Given the description of an element on the screen output the (x, y) to click on. 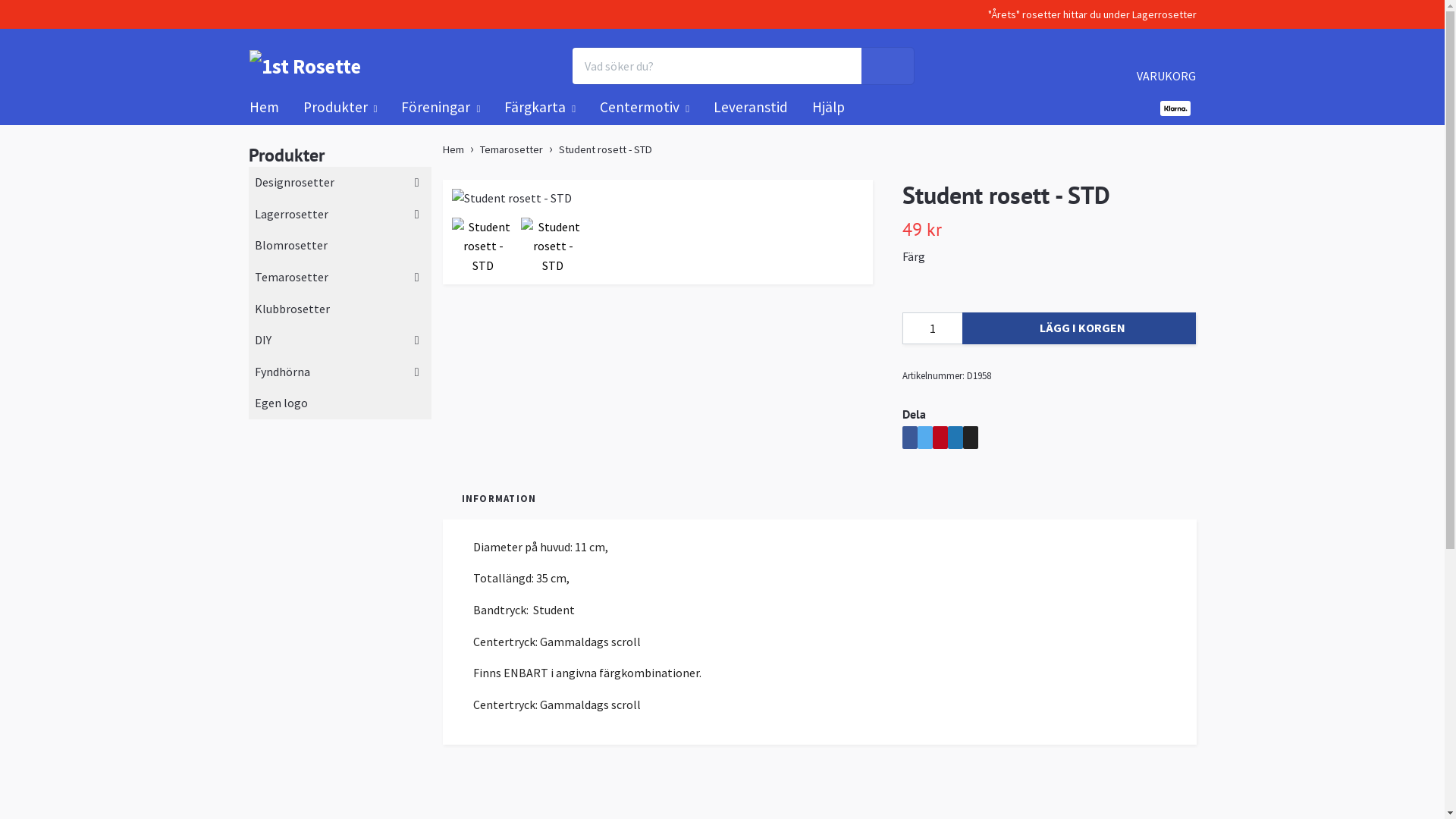
Temarosetter Element type: text (510, 149)
Blomrosetter Element type: text (339, 245)
Produkter Element type: text (340, 107)
Klubbrosetter Element type: text (339, 309)
Egen logo Element type: text (339, 403)
Designrosetter Element type: text (296, 182)
Temarosetter Element type: text (293, 277)
1st Rosette Element type: hover (304, 66)
DIY Element type: text (265, 340)
Centermotiv Element type: text (644, 107)
Hem Element type: text (453, 149)
Leveranstid Element type: text (750, 106)
Hem Element type: text (263, 106)
VARUKORG Element type: text (1165, 65)
Lagerrosetter Element type: text (293, 214)
